Given the description of an element on the screen output the (x, y) to click on. 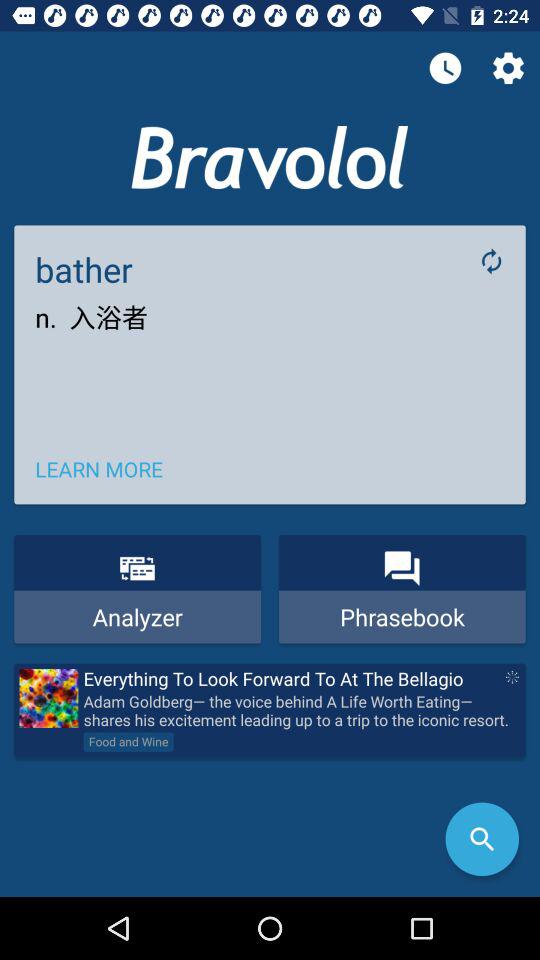
search button (482, 839)
